Given the description of an element on the screen output the (x, y) to click on. 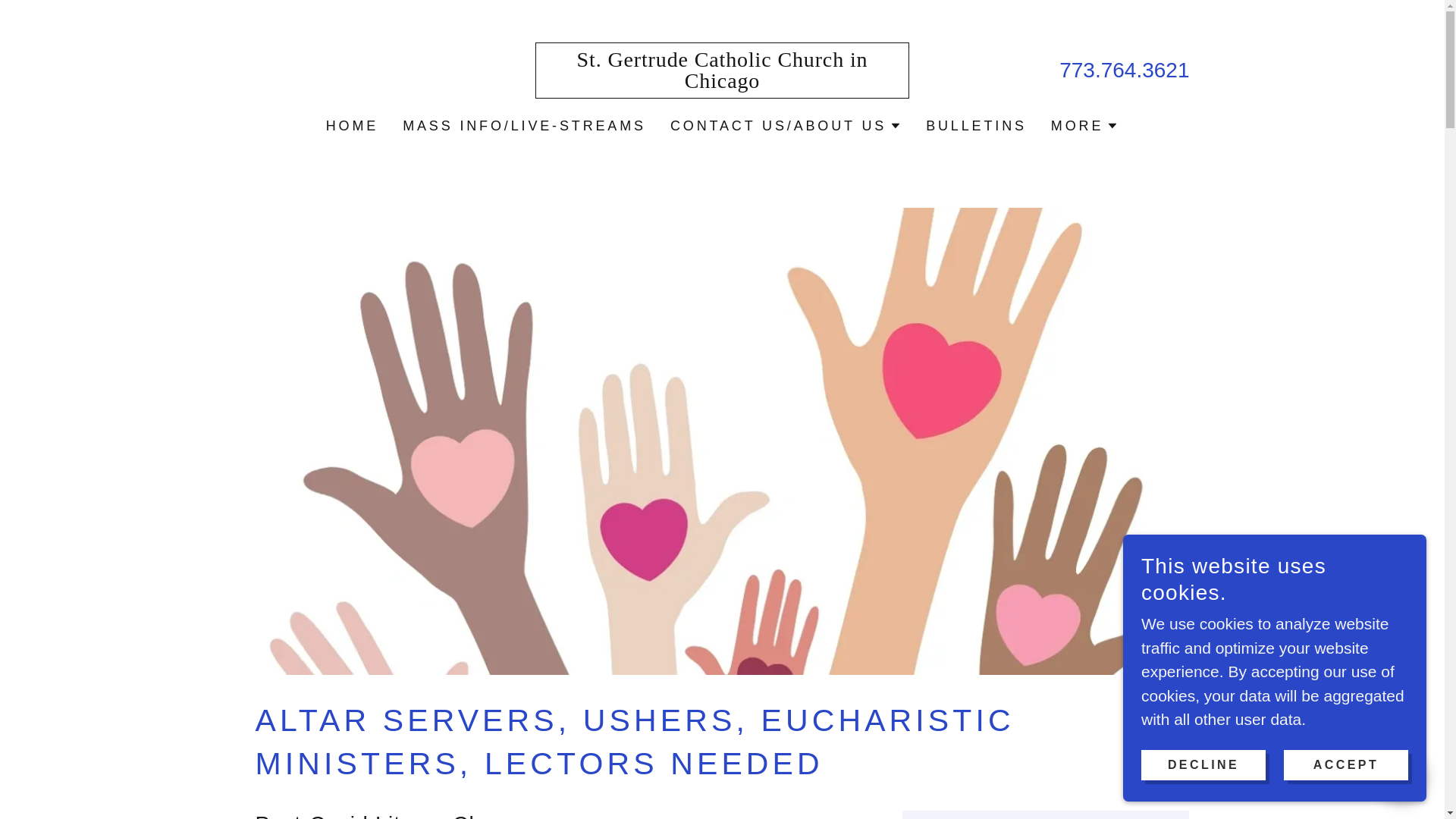
St. Gertrude Catholic Church in Chicago (721, 81)
773.764.3621 (1124, 69)
St. Gertrude Catholic Church in Chicago (721, 81)
HOME (351, 125)
BULLETINS (975, 125)
